Given the description of an element on the screen output the (x, y) to click on. 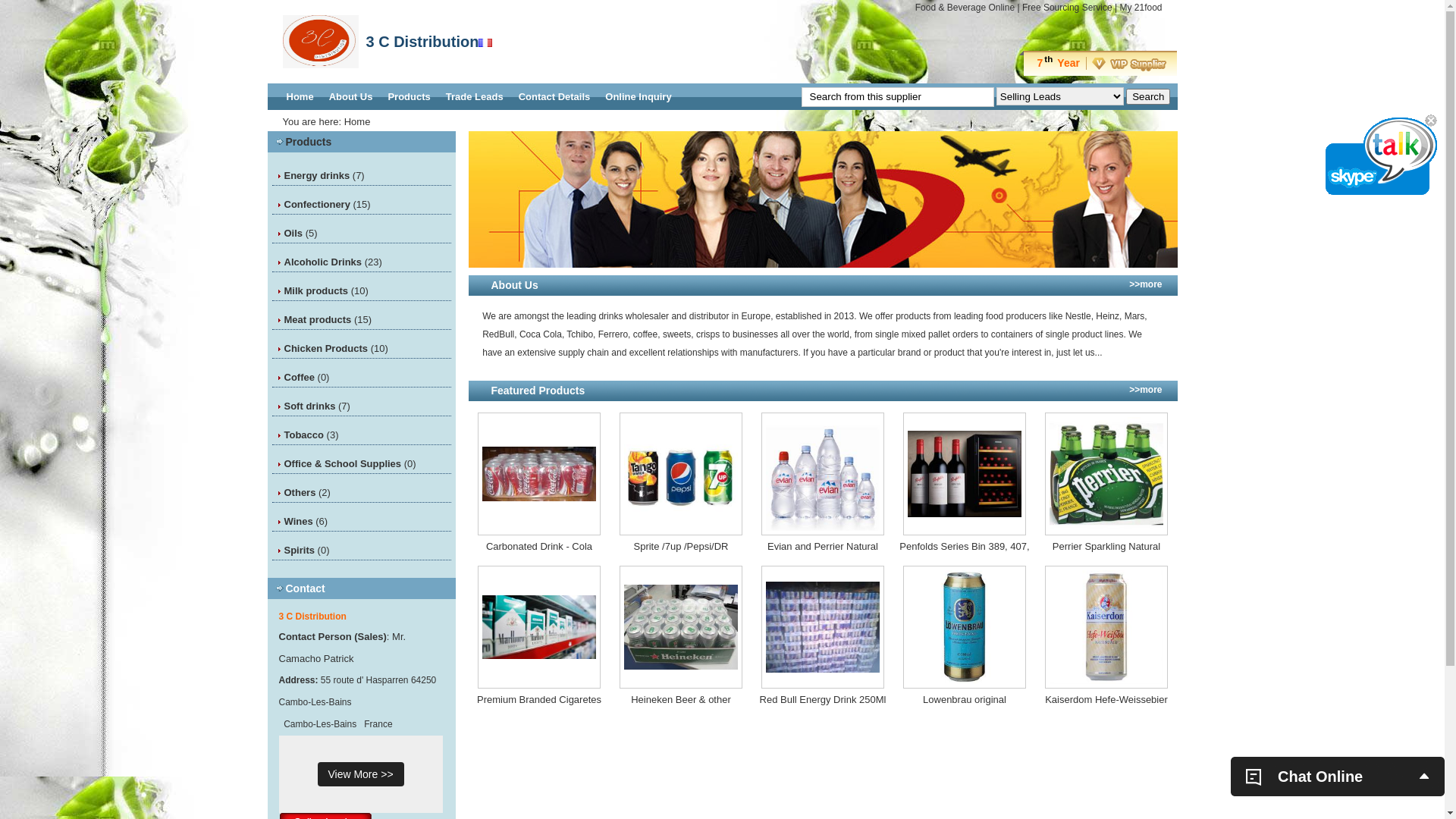
Food & Beverage Online Element type: text (964, 7)
Products Element type: text (308, 141)
Chicken Products (10) Element type: text (335, 348)
Milk products (10) Element type: text (325, 290)
Tobacco (3) Element type: text (310, 434)
Meat products (15) Element type: text (327, 319)
>>more Element type: text (1145, 284)
Evian and Perrier Natural Mineral Water Element type: text (822, 546)
Coffee (0) Element type: text (306, 376)
Kaiserdom Hefe-Weissebier Element type: text (1105, 699)
Alcoholic Drinks (23) Element type: text (332, 261)
Lowenbrau original Element type: text (964, 699)
My 21food Element type: text (1140, 7)
Office & School Supplies (0) Element type: text (349, 463)
Soft drinks (7) Element type: text (316, 405)
Home Element type: text (299, 96)
Heineken Beer & other premium beers Element type: text (681, 699)
Products Element type: text (408, 96)
Penfolds Series Bin 389, 407, 707 Element type: text (964, 546)
Others (2) Element type: text (306, 492)
>>more Element type: text (1145, 389)
Search Element type: text (1148, 95)
Confectionery (15) Element type: text (326, 204)
Contact Details Element type: text (554, 96)
View More >> Element type: text (359, 774)
About Us Element type: text (351, 96)
Contact Element type: text (304, 588)
Perrier Sparkling Natural Mineral Water Element type: text (1105, 546)
Wines (6) Element type: text (305, 521)
Spirits (0) Element type: text (306, 549)
Premium Branded Cigaretes (Marboro and other brands) Element type: text (538, 699)
Carbonated Drink - Cola 330ml Cans Element type: text (538, 546)
Free Sourcing Service Element type: text (1067, 7)
7thYear Element type: text (1098, 62)
Trade Leads Element type: text (474, 96)
Energy drinks (7) Element type: text (323, 175)
Sprite /7up /Pepsi/DR Pepper/Fanta Element type: text (681, 546)
Red Bull Energy Drink 250Ml from Austria Element type: text (822, 699)
3 C Distribution Element type: text (312, 616)
Search from this supplier Element type: text (896, 96)
Oils (5) Element type: text (299, 232)
Online Inquiry Element type: text (638, 96)
